Given the description of an element on the screen output the (x, y) to click on. 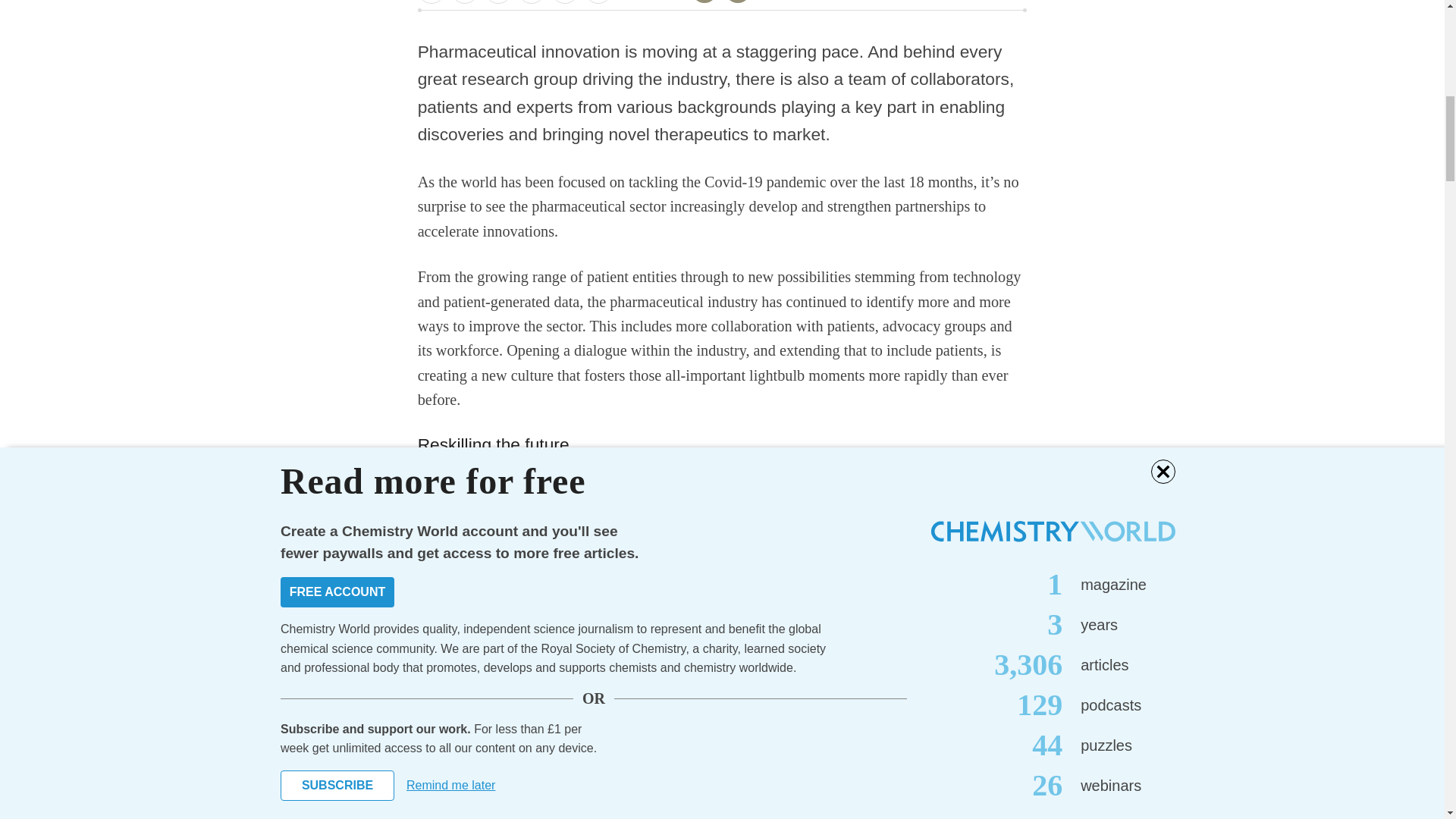
1 COMMENT (668, 3)
Share this on LinkedIn (498, 2)
Share this on Facebook (431, 2)
Share this on Reddit (531, 2)
Share this on WhatsApp (564, 2)
Share this by email (598, 2)
